Given the description of an element on the screen output the (x, y) to click on. 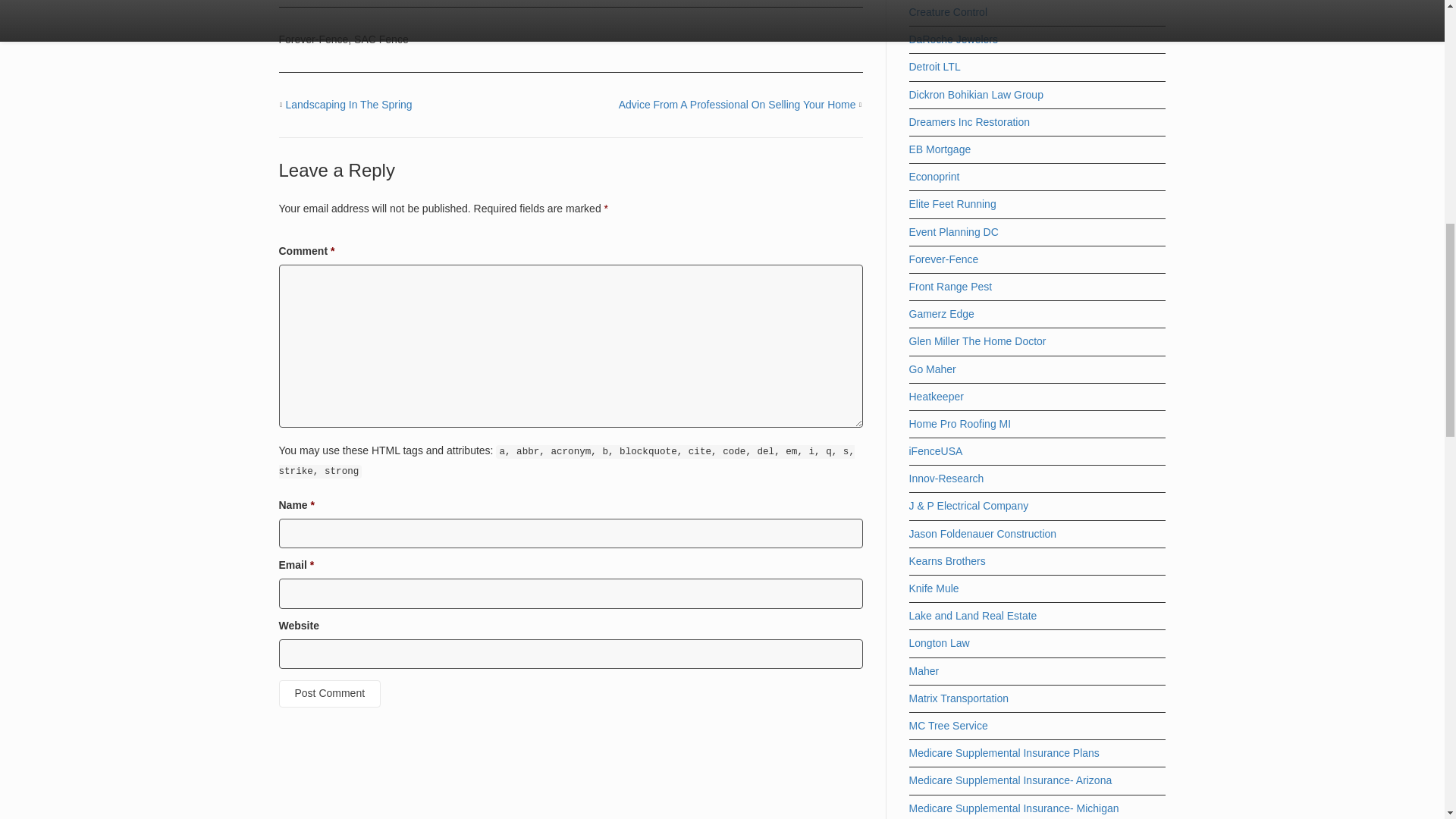
Post Comment (330, 693)
SAC Fence (381, 39)
Advice From A Professional On Selling Your Home (737, 104)
Landscaping In The Spring (348, 104)
Post Comment (330, 693)
Forever-Fence (314, 39)
